Given the description of an element on the screen output the (x, y) to click on. 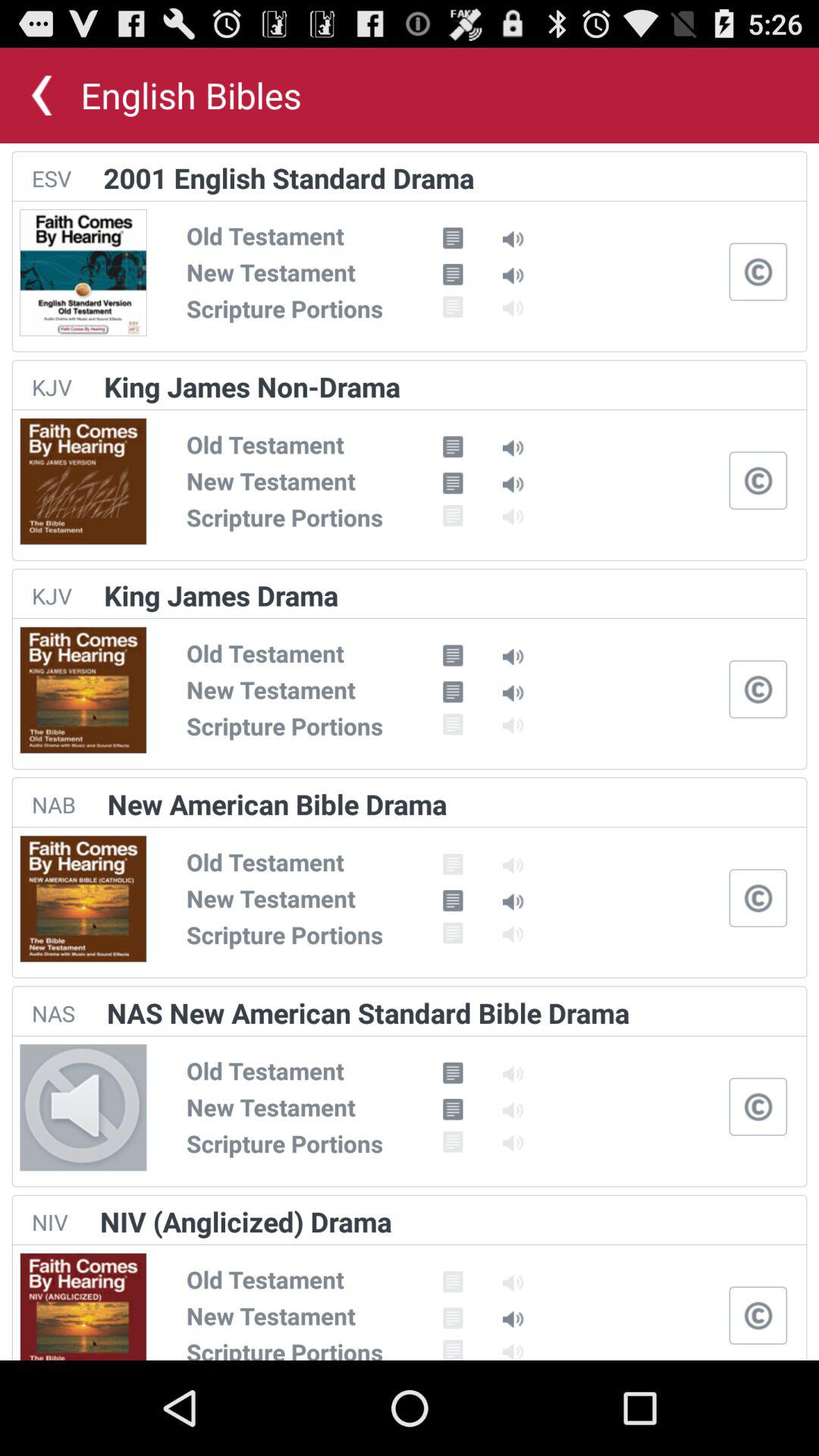
click on the volume button to the right of scripture portions text (513, 1143)
